Given the description of an element on the screen output the (x, y) to click on. 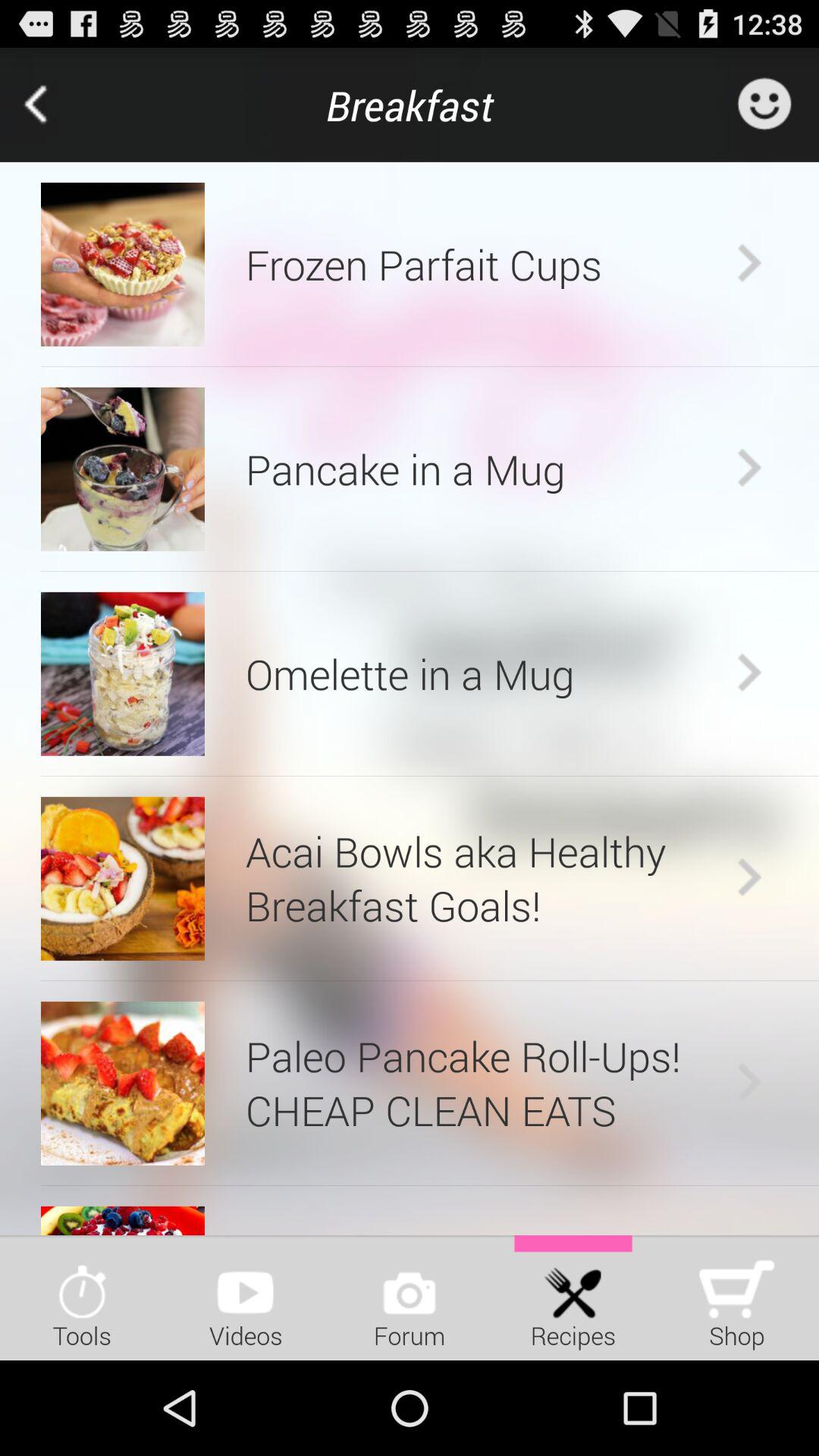
press paleo pancake roll app (486, 1083)
